Given the description of an element on the screen output the (x, y) to click on. 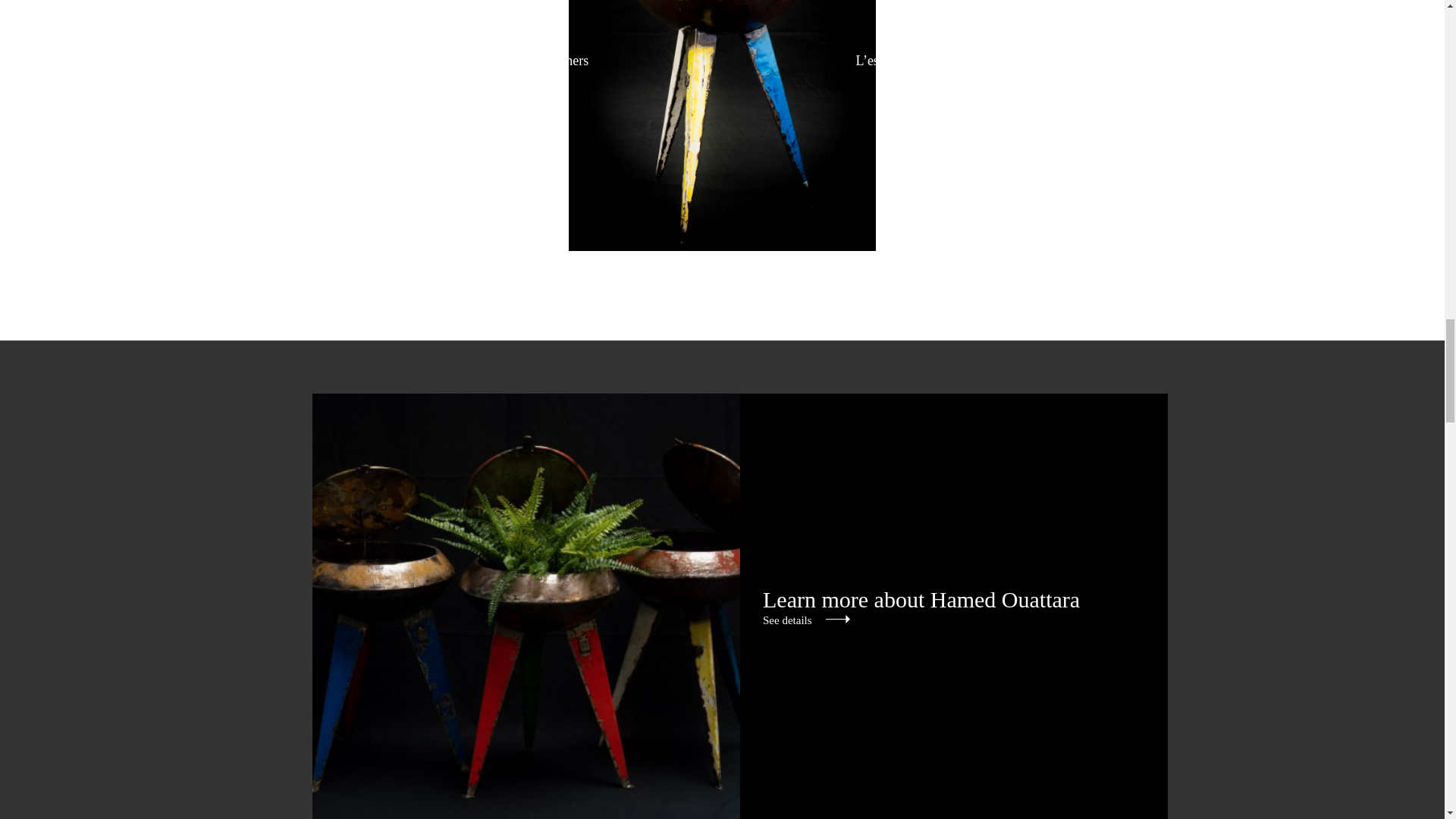
See details (806, 620)
